Given the description of an element on the screen output the (x, y) to click on. 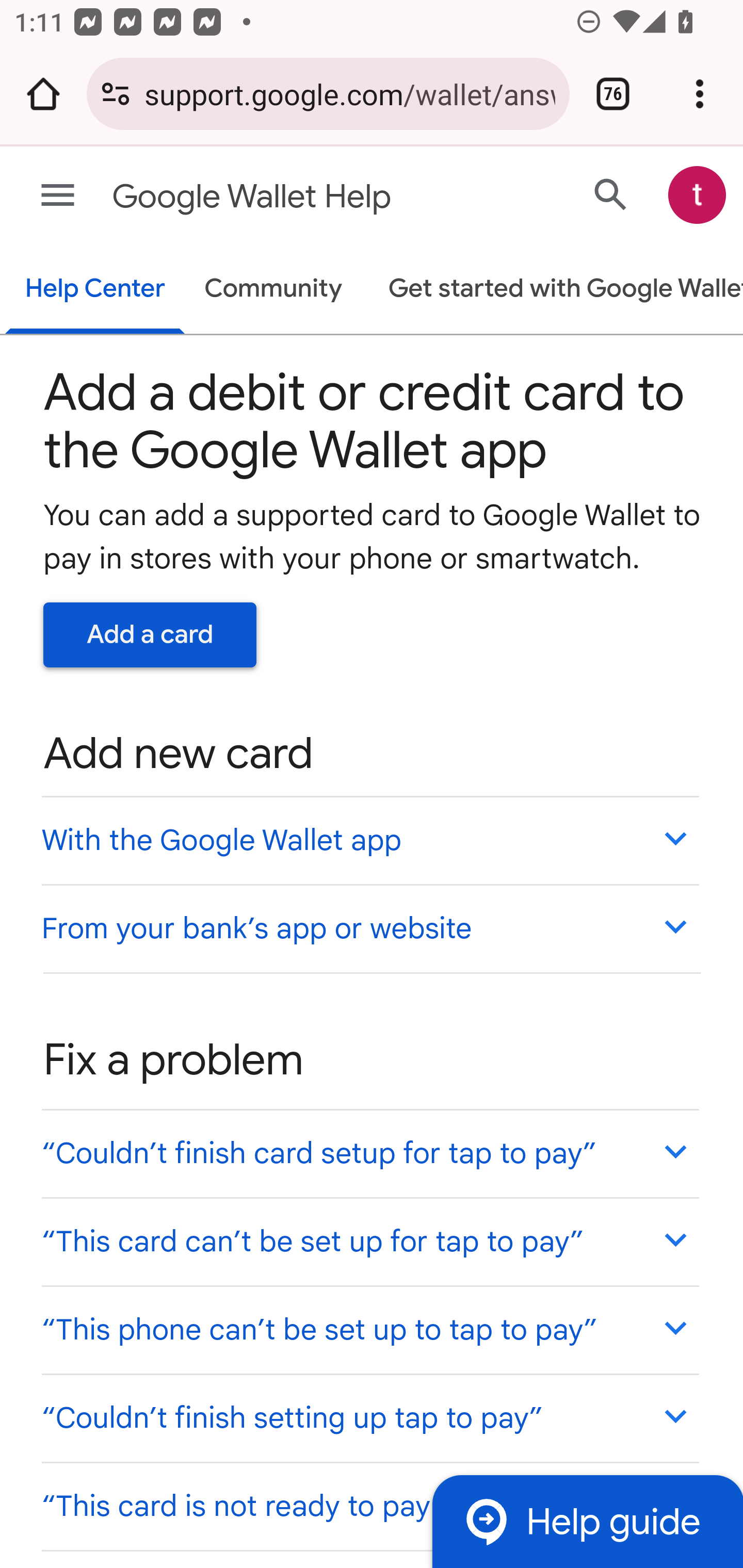
Open the home page (43, 93)
Connection is secure (115, 93)
Switch or close tabs (612, 93)
Customize and control Google Chrome (699, 93)
Main menu (58, 195)
Google Wallet Help (292, 197)
Search Help Center (611, 194)
Help Center (94, 289)
Community (273, 289)
Get started with Google Wallet (555, 289)
Add a card (150, 633)
With the Google Wallet app (369, 839)
From your bank’s app or website (369, 927)
“Couldn’t finish card setup for tap to pay” (369, 1152)
“This card can’t be set up for tap to pay” (369, 1240)
“This phone can’t be set up to tap to pay” (369, 1329)
“Couldn’t finish setting up tap to pay” (369, 1417)
“This card is not ready to pay online” (369, 1504)
Help guide (587, 1520)
